Given the description of an element on the screen output the (x, y) to click on. 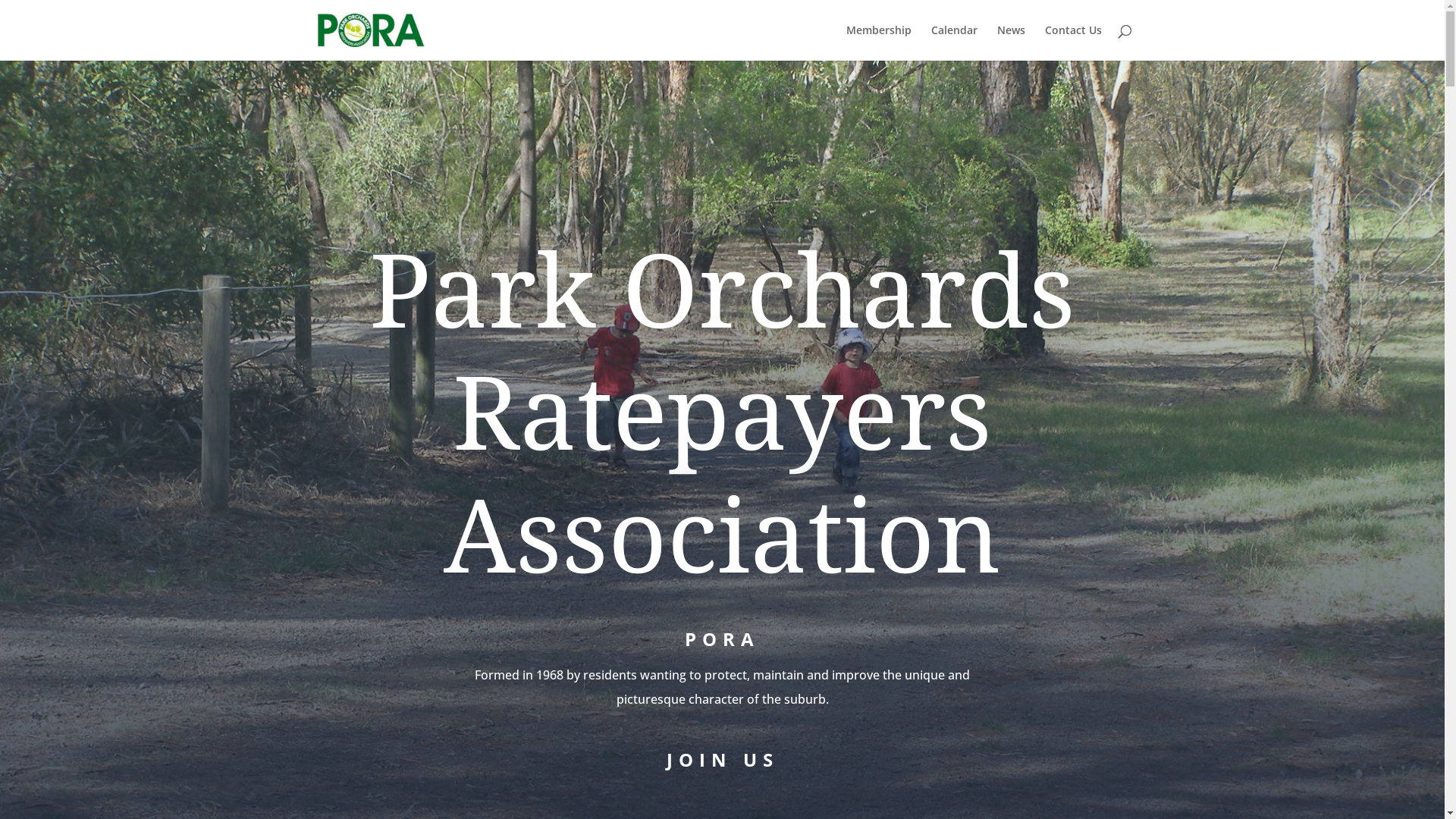
Contact Us Element type: text (1072, 42)
Calendar Element type: text (954, 42)
News Element type: text (1010, 42)
Membership Element type: text (878, 42)
